Given the description of an element on the screen output the (x, y) to click on. 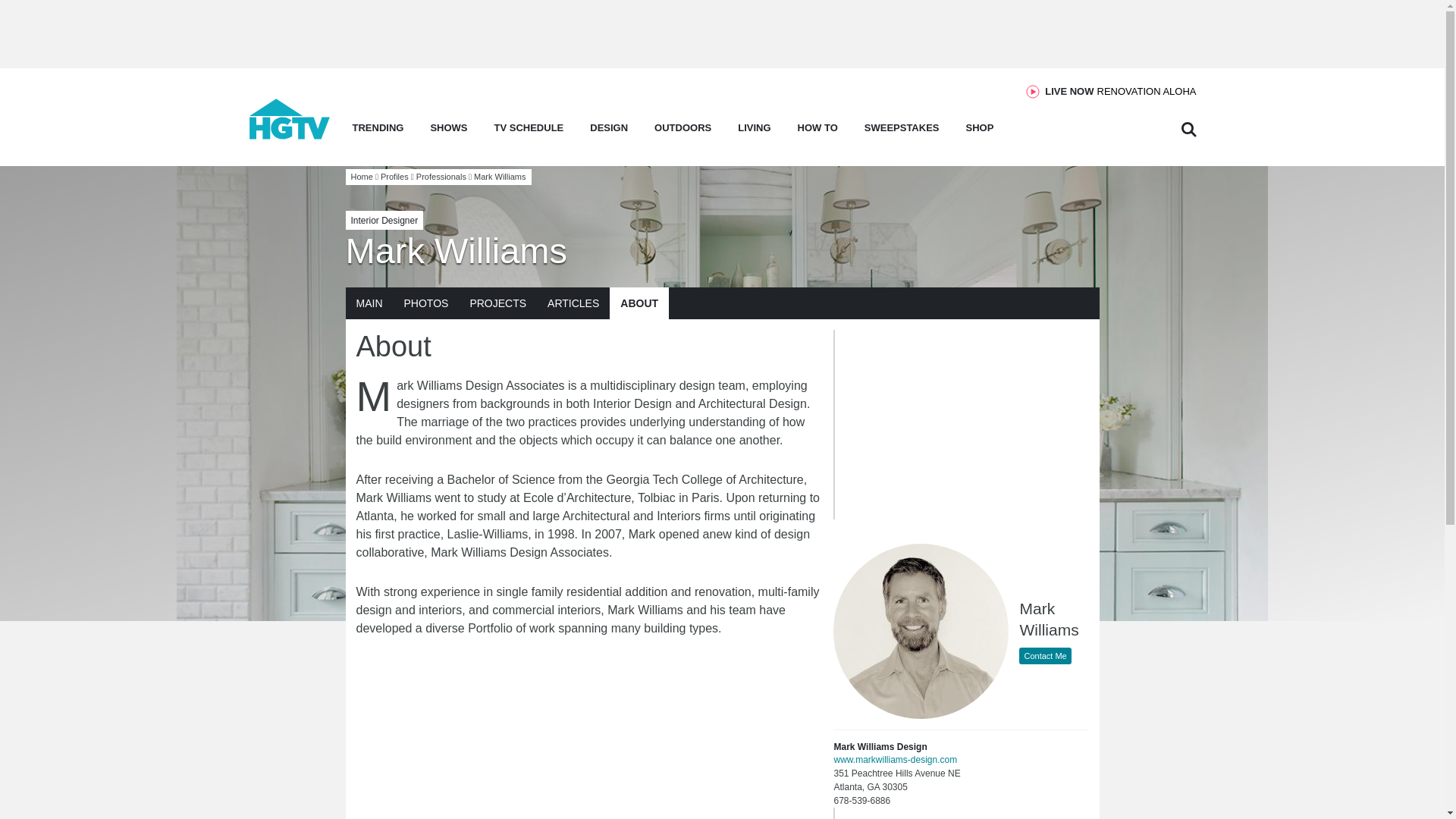
3rd party ad content (1120, 91)
3rd party ad content (721, 33)
home (957, 813)
3rd party ad content (289, 135)
